Given the description of an element on the screen output the (x, y) to click on. 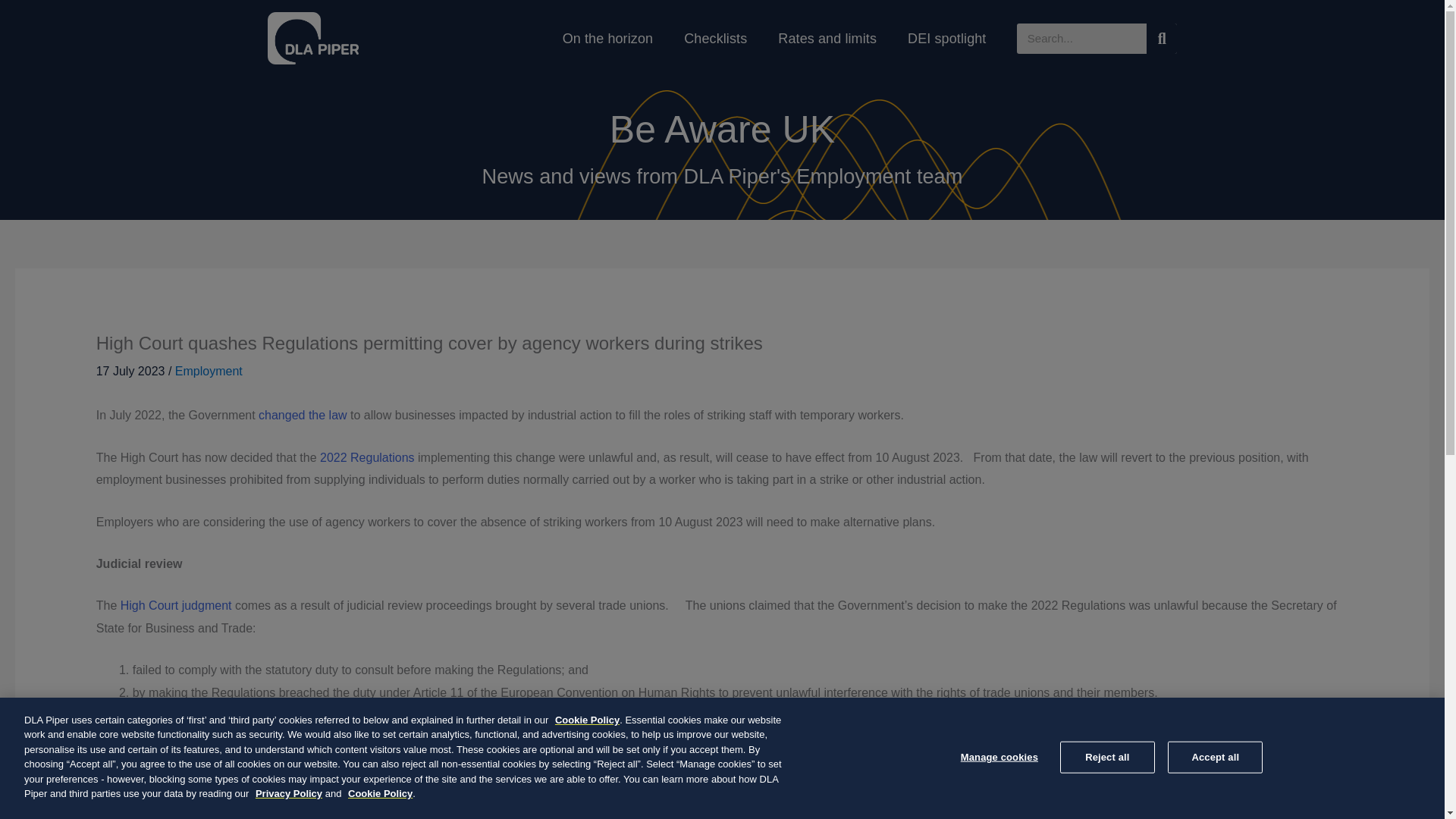
Checklists (714, 38)
On the horizon (607, 38)
Rates and limits (826, 38)
2022 Regulations (367, 457)
changed the law (303, 414)
Rates and limits (826, 38)
High Court judgment (175, 604)
News and views from DLA Piper's Employment team (721, 176)
On the horizon (607, 38)
Search (1161, 37)
